Given the description of an element on the screen output the (x, y) to click on. 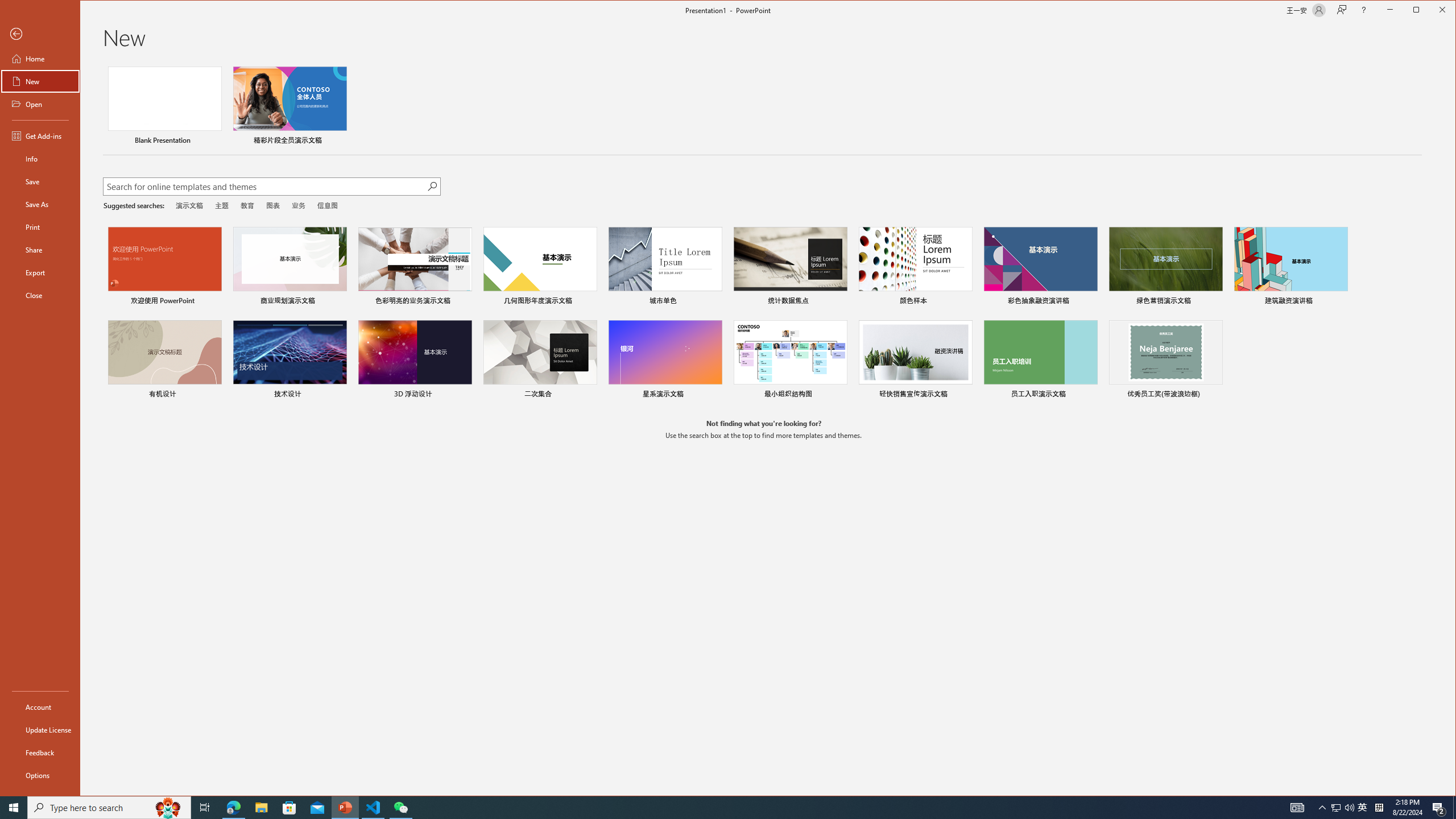
Search for online templates and themes (264, 187)
